Given the description of an element on the screen output the (x, y) to click on. 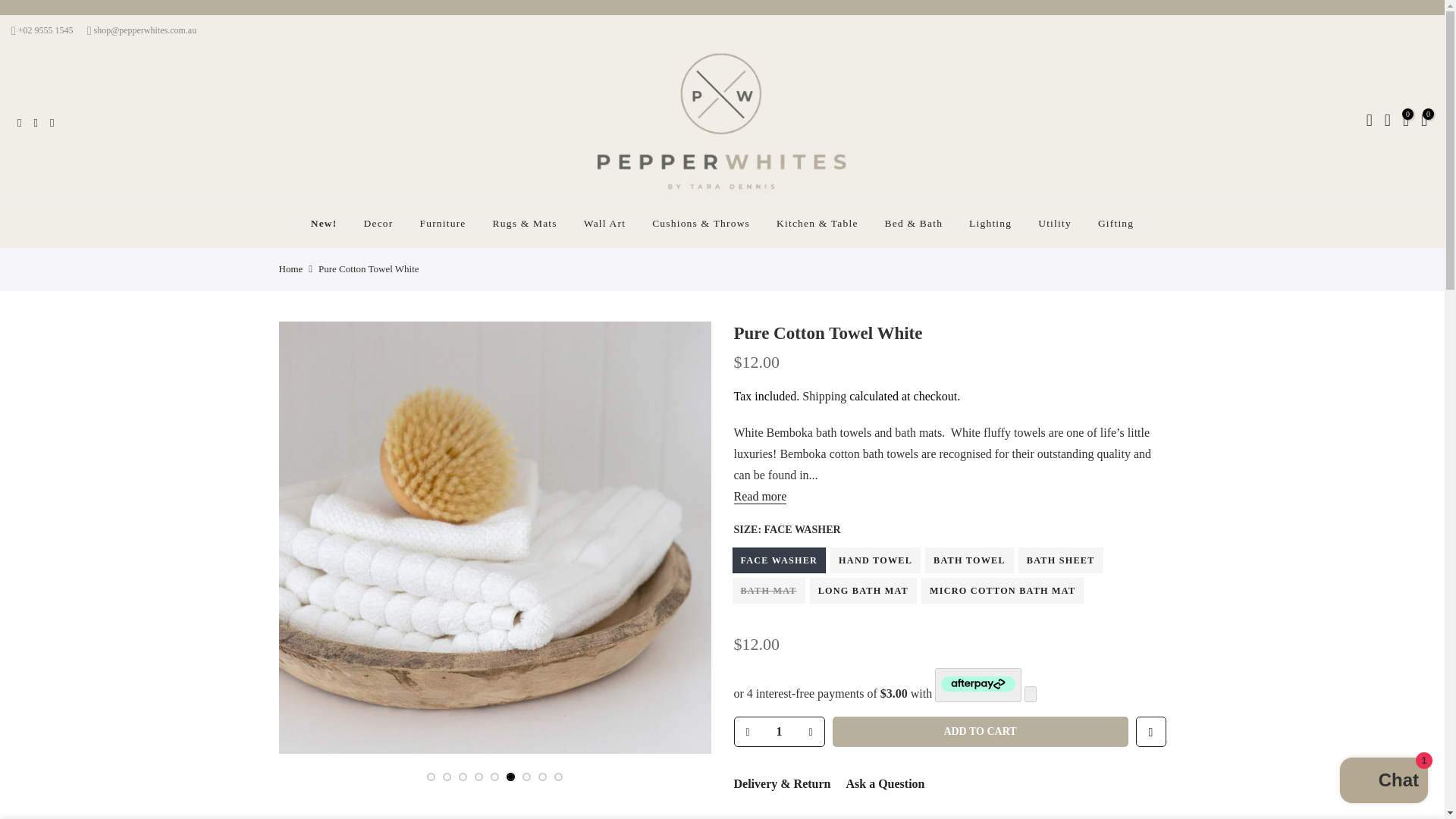
Decor (378, 223)
1 (778, 731)
New! (323, 223)
Shopify online store chat (1383, 781)
